Given the description of an element on the screen output the (x, y) to click on. 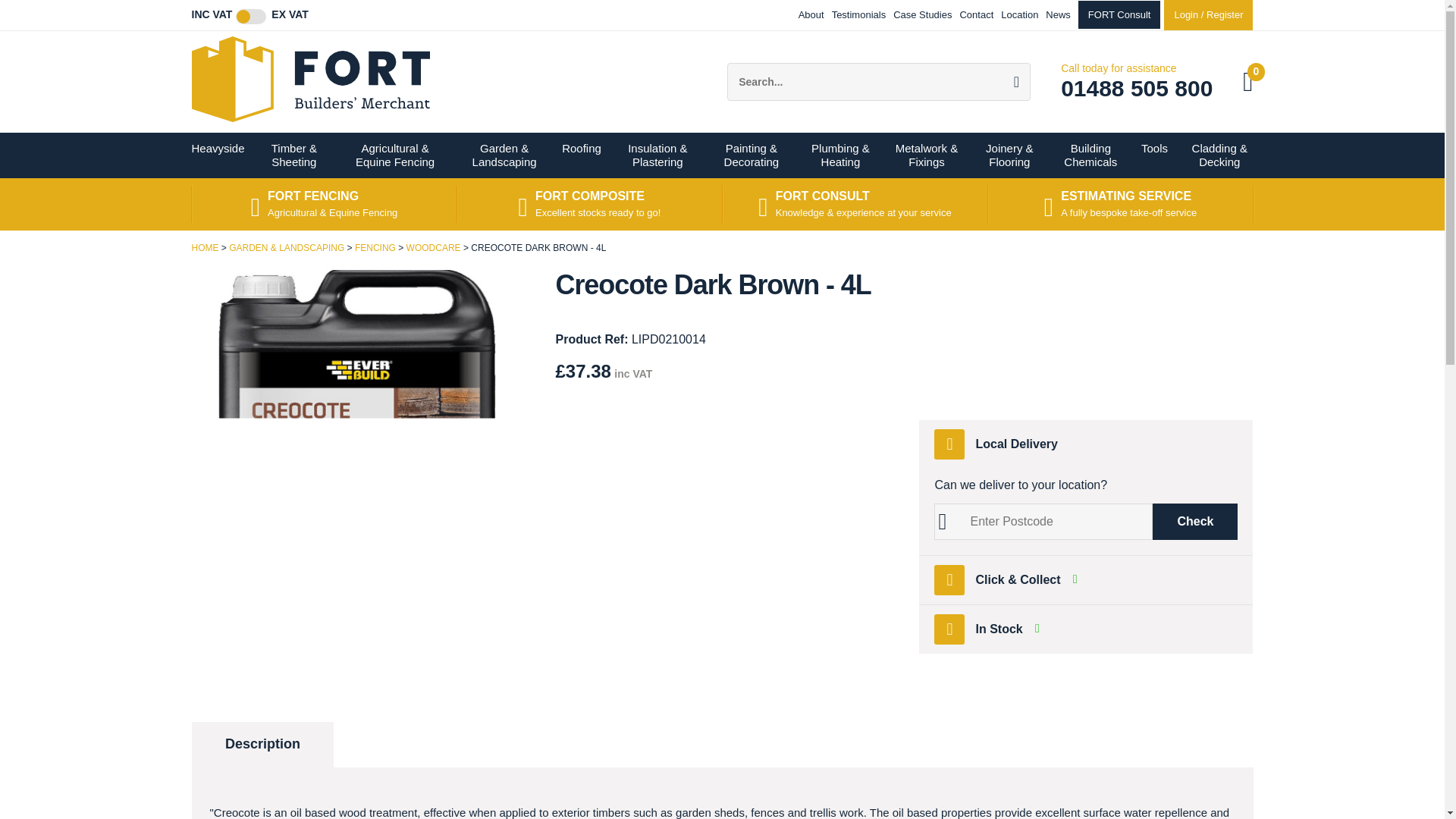
01488 505 800 (1136, 88)
Contact (975, 14)
News (1057, 14)
FORT Consult (1119, 14)
About (810, 14)
Heavyside (217, 155)
INC VAT (210, 15)
Case Studies (922, 14)
Testimonials (858, 14)
Location (1019, 14)
EX VAT (289, 15)
